Given the description of an element on the screen output the (x, y) to click on. 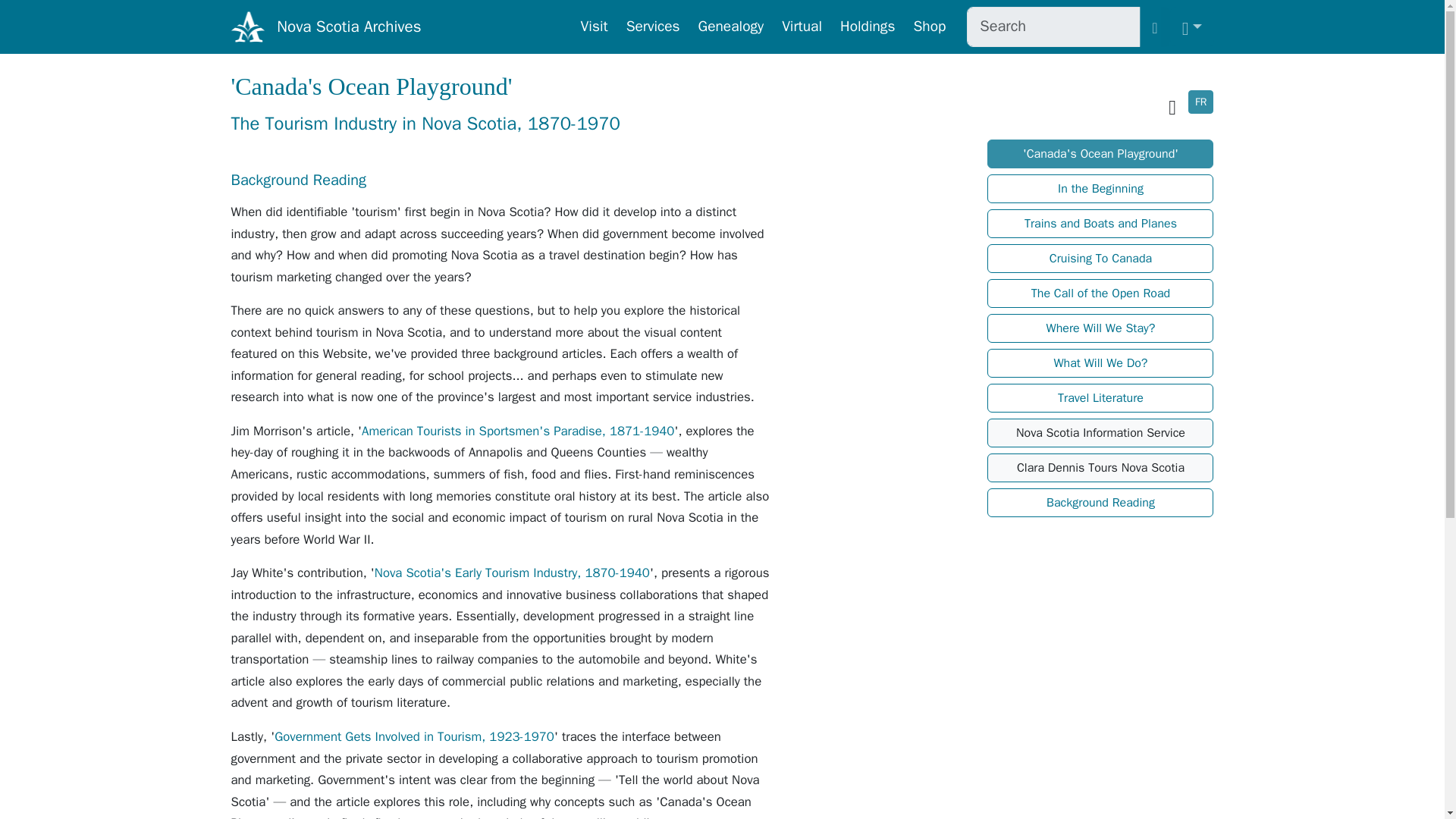
French (1200, 101)
Shop (929, 26)
Holdings (867, 26)
Genealogy (731, 26)
Services (652, 26)
Virtual (802, 26)
Nova Scotia Archives (348, 26)
Visit (594, 26)
